Given the description of an element on the screen output the (x, y) to click on. 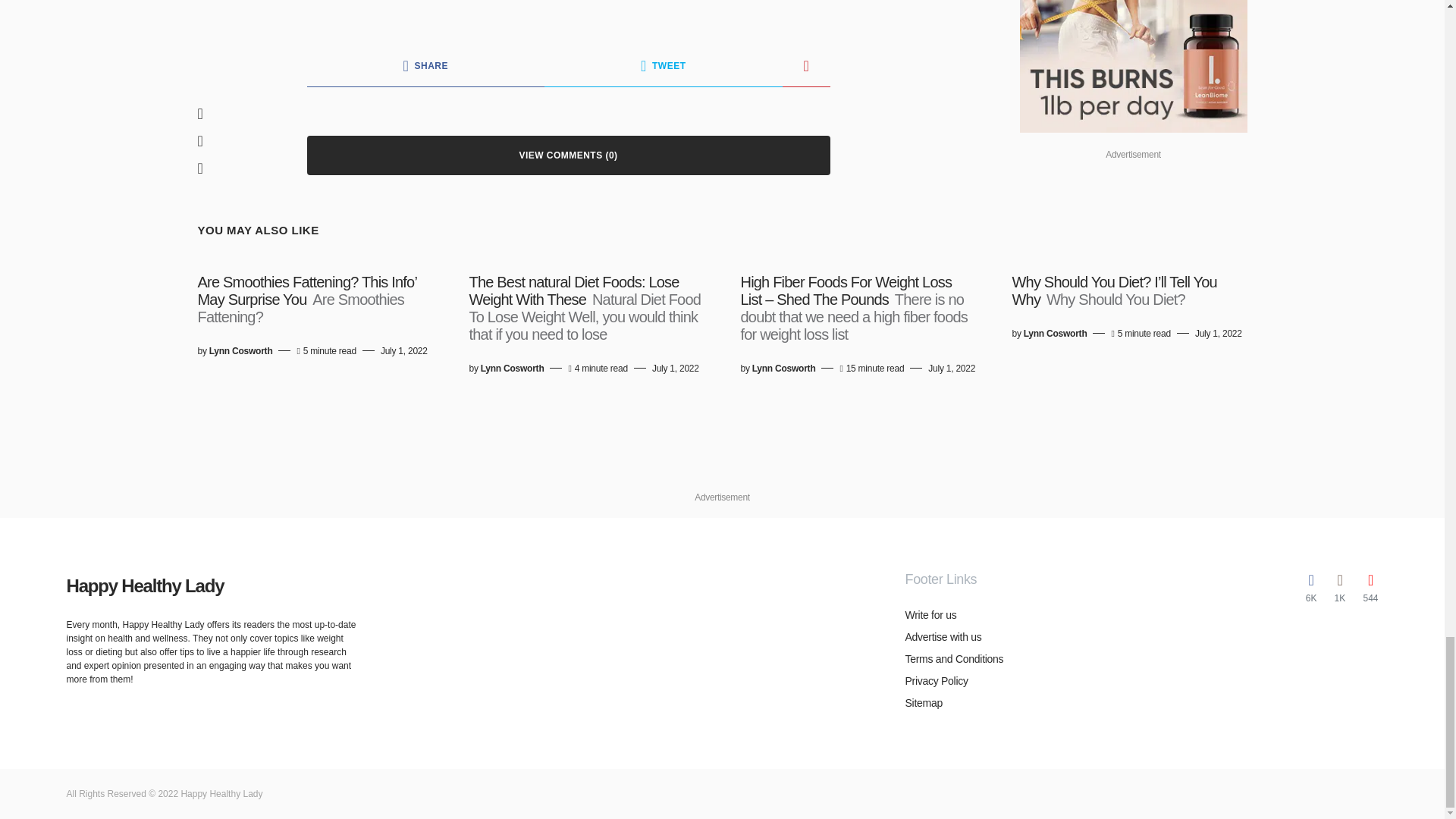
View all posts by Lynn Cosworth (241, 350)
View all posts by Lynn Cosworth (1055, 333)
View all posts by Lynn Cosworth (512, 368)
View all posts by Lynn Cosworth (783, 368)
